Given the description of an element on the screen output the (x, y) to click on. 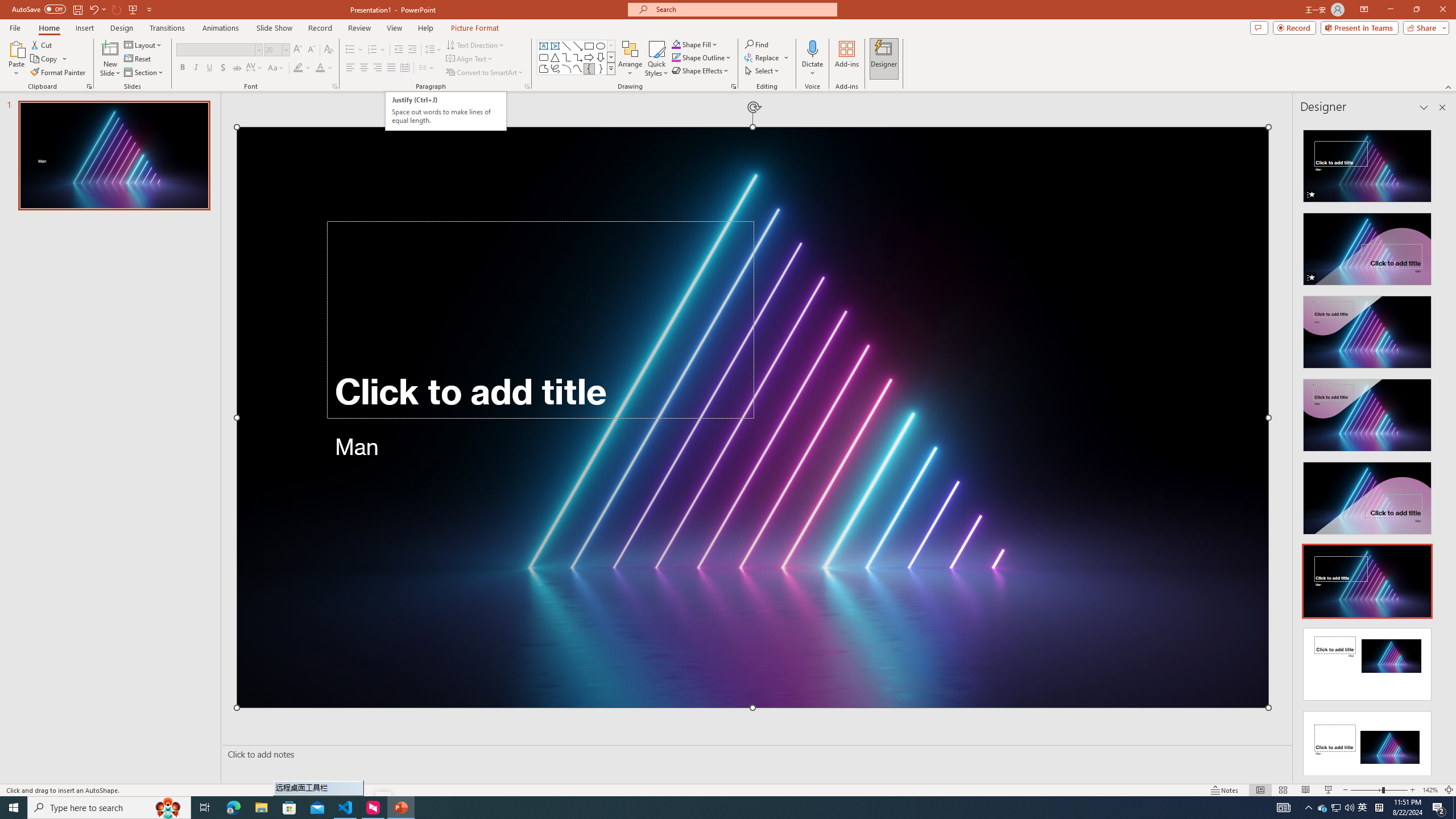
Recommended Design: Animation (1366, 162)
